Given the description of an element on the screen output the (x, y) to click on. 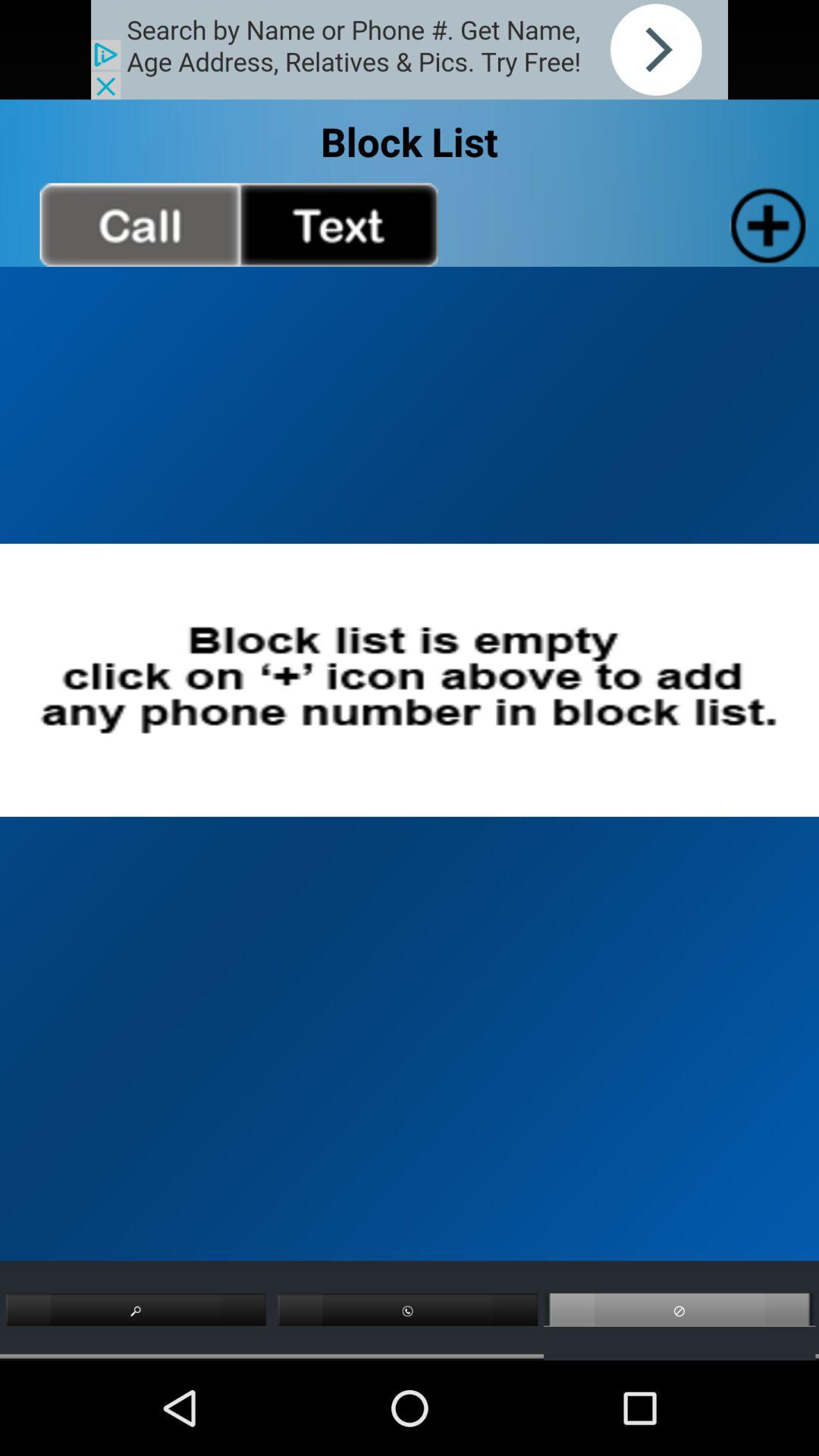
go to the advertisement (409, 49)
